Given the description of an element on the screen output the (x, y) to click on. 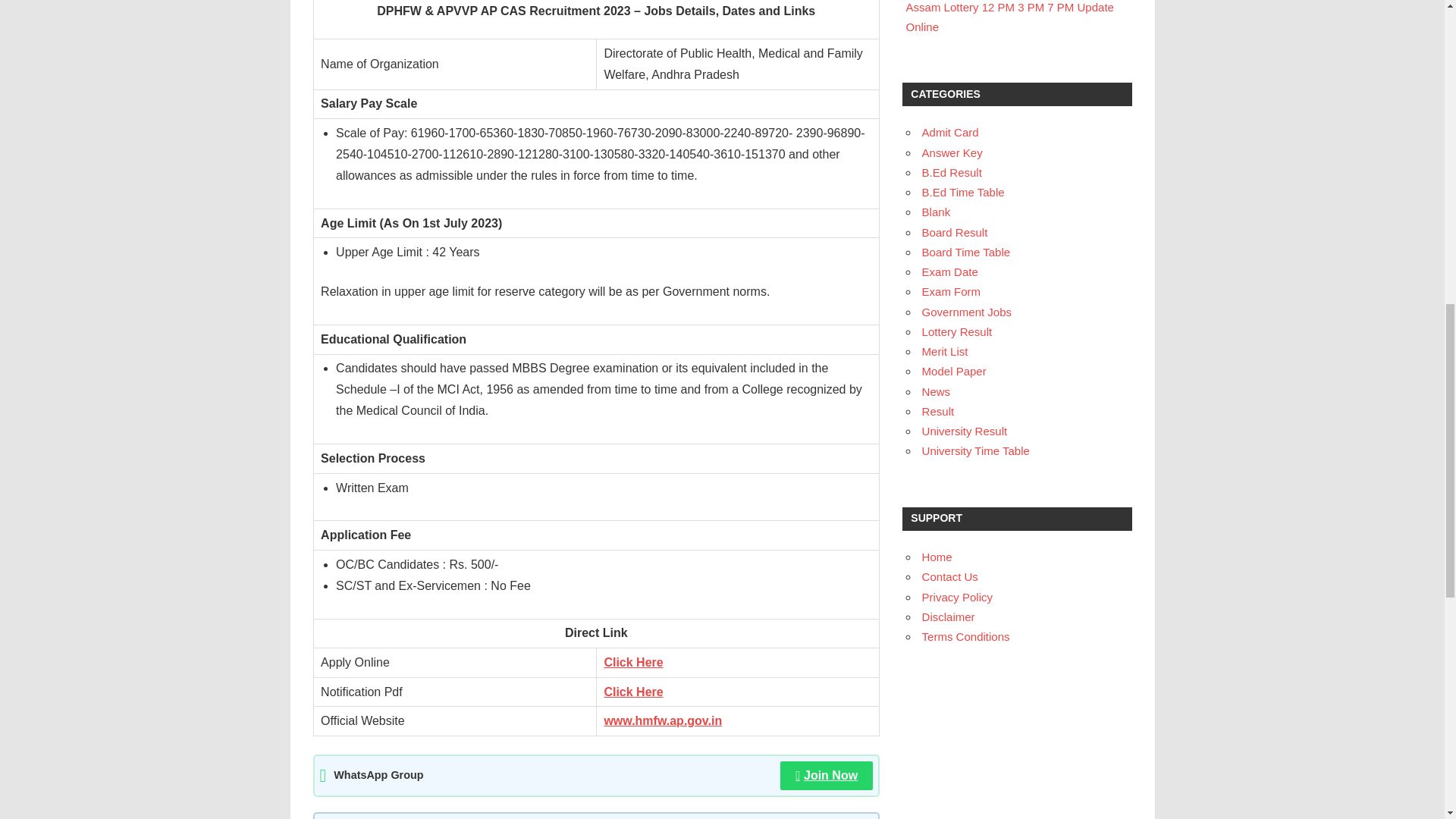
Join Now (826, 775)
Click Here (633, 662)
www.hmfw.ap.gov.in (663, 720)
Click Here (633, 691)
